Given the description of an element on the screen output the (x, y) to click on. 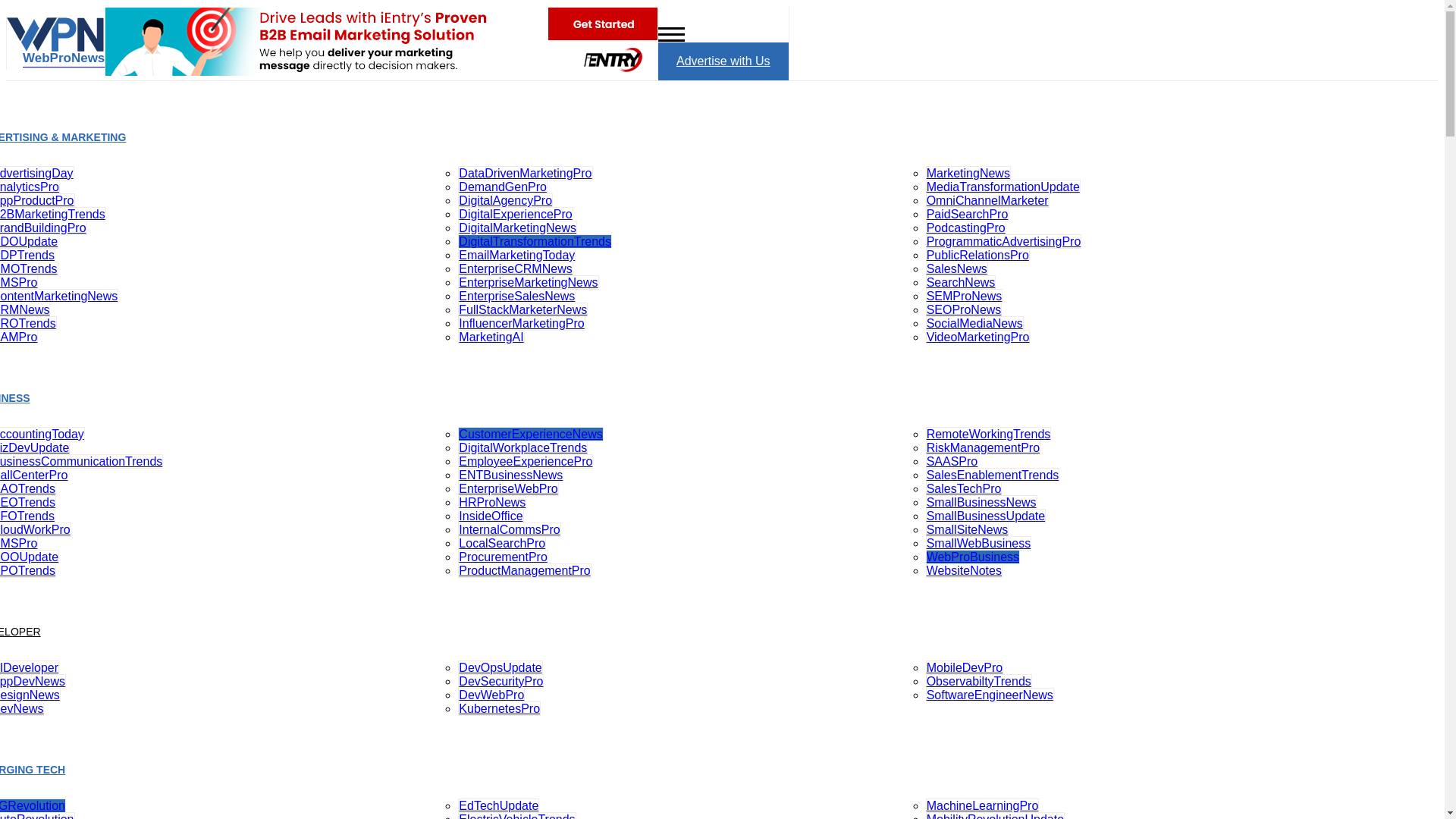
PodcastingPro (966, 227)
MediaTransformationUpdate (1003, 186)
DataDrivenMarketingPro (525, 173)
CDOUpdate (29, 241)
SalesNews (957, 268)
FullStackMarketerNews (523, 309)
InfluencerMarketingPro (521, 323)
DigitalMarketingNews (517, 227)
CMSPro (18, 282)
PublicRelationsPro (977, 255)
AnalyticsPro (29, 186)
DAMPro (18, 336)
PaidSearchPro (967, 214)
CRMNews (24, 309)
WebProNews (55, 53)
